Given the description of an element on the screen output the (x, y) to click on. 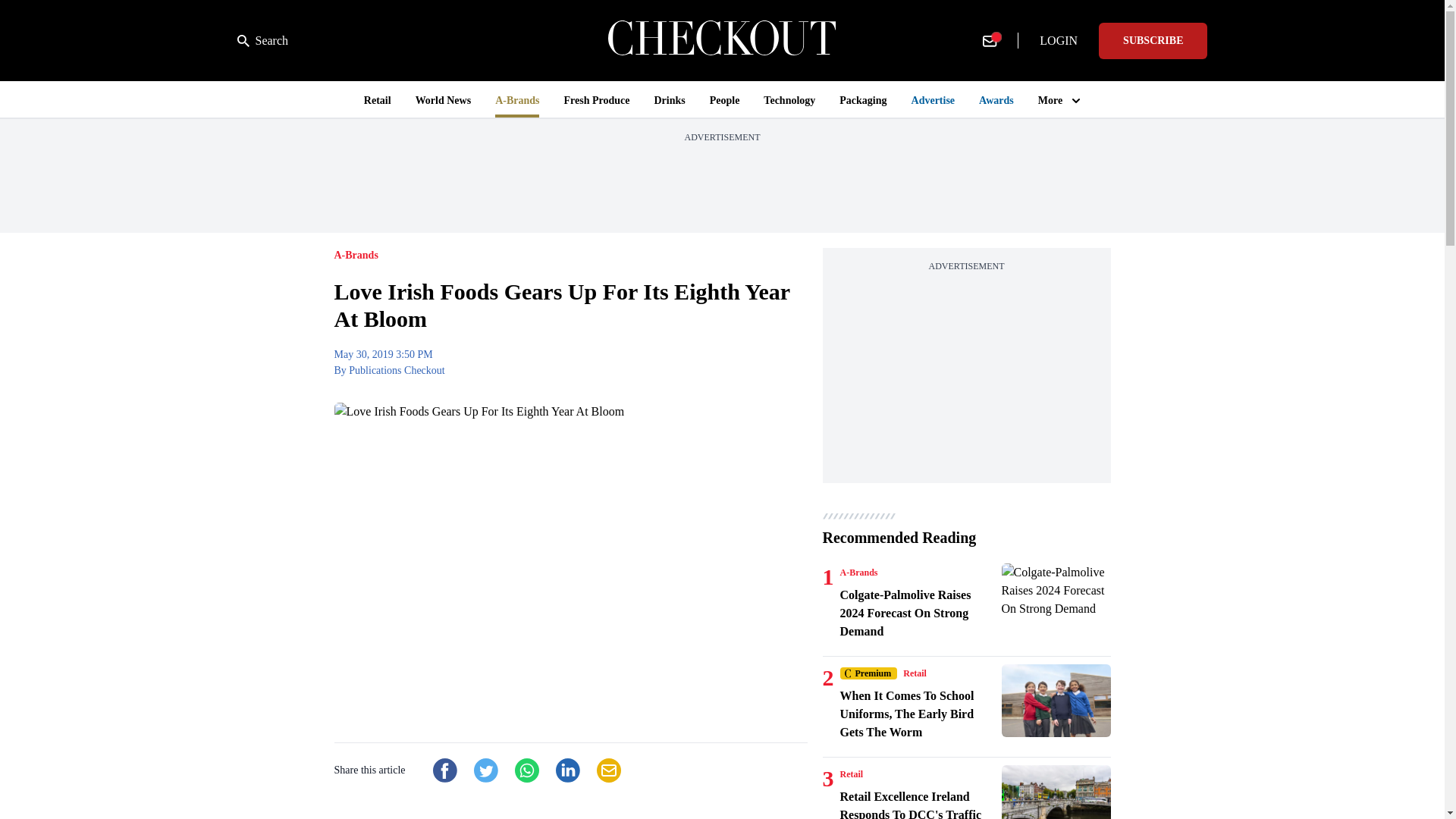
A-Brands (858, 572)
Colgate-Palmolive Raises 2024 Forecast On Strong Demand (1055, 599)
Colgate-Palmolive Raises 2024 Forecast On Strong Demand (917, 613)
Checkout (721, 40)
Retail (914, 673)
Search (261, 40)
LOGIN (1058, 40)
